Given the description of an element on the screen output the (x, y) to click on. 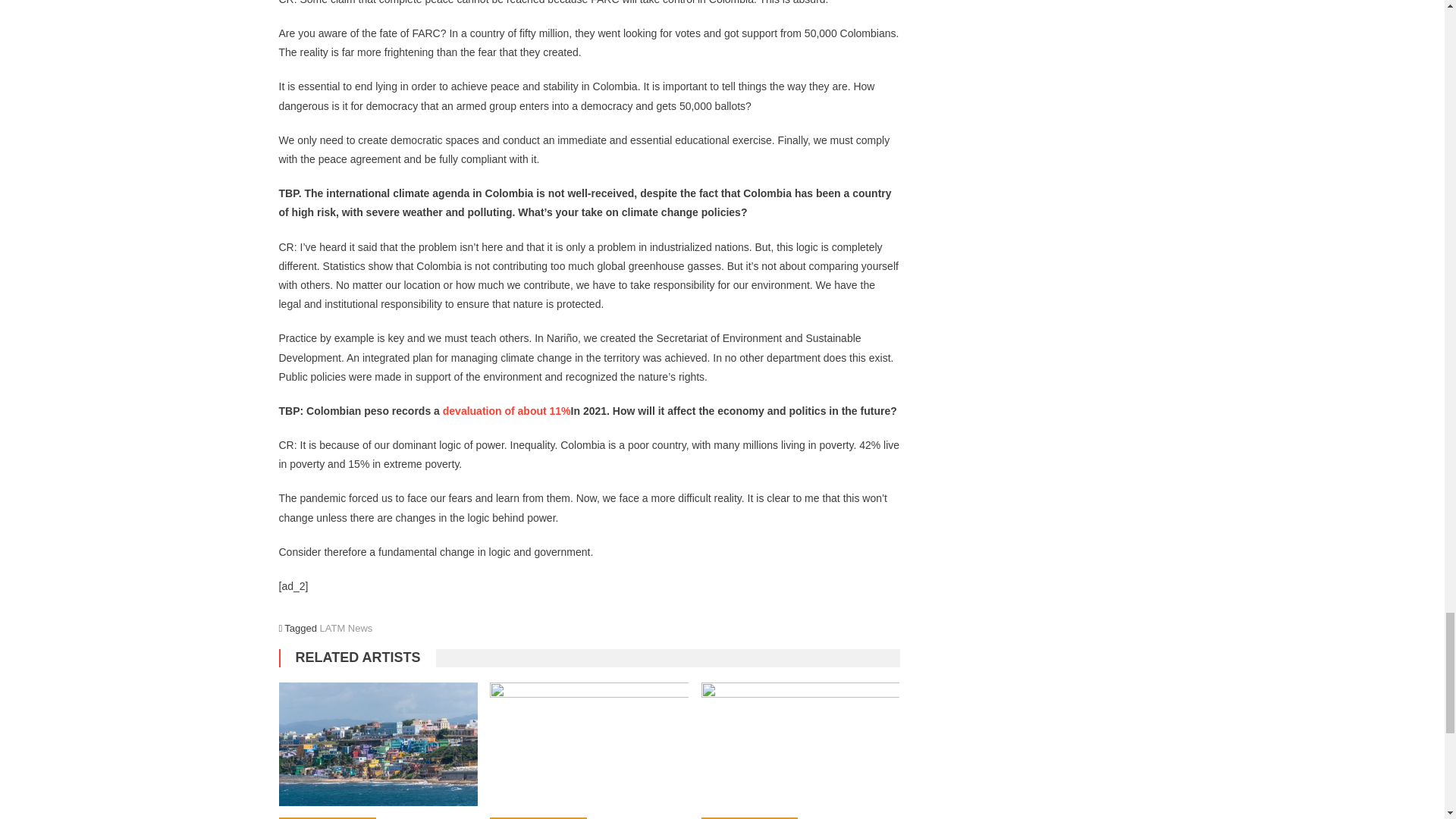
LATINO WEBSITES (537, 818)
LATINO WEBSITES (749, 818)
LATM News (346, 627)
LATINO WEBSITES (327, 818)
Incorporate a Business in Puerto Rico: a 5-Step Guide (378, 744)
